Given the description of an element on the screen output the (x, y) to click on. 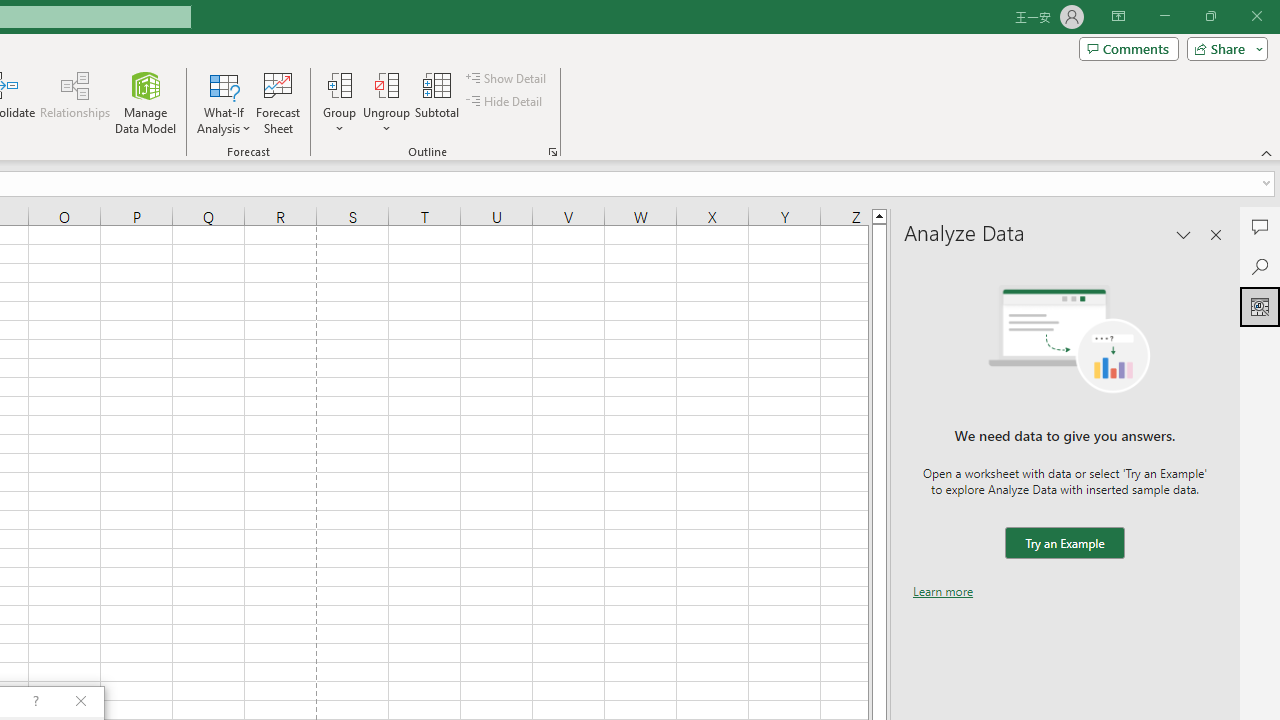
Learn more (943, 591)
Close pane (1215, 234)
Task Pane Options (1183, 234)
Group and Outline Settings (552, 151)
What-If Analysis (223, 102)
Show Detail (507, 78)
Relationships (75, 102)
